Given the description of an element on the screen output the (x, y) to click on. 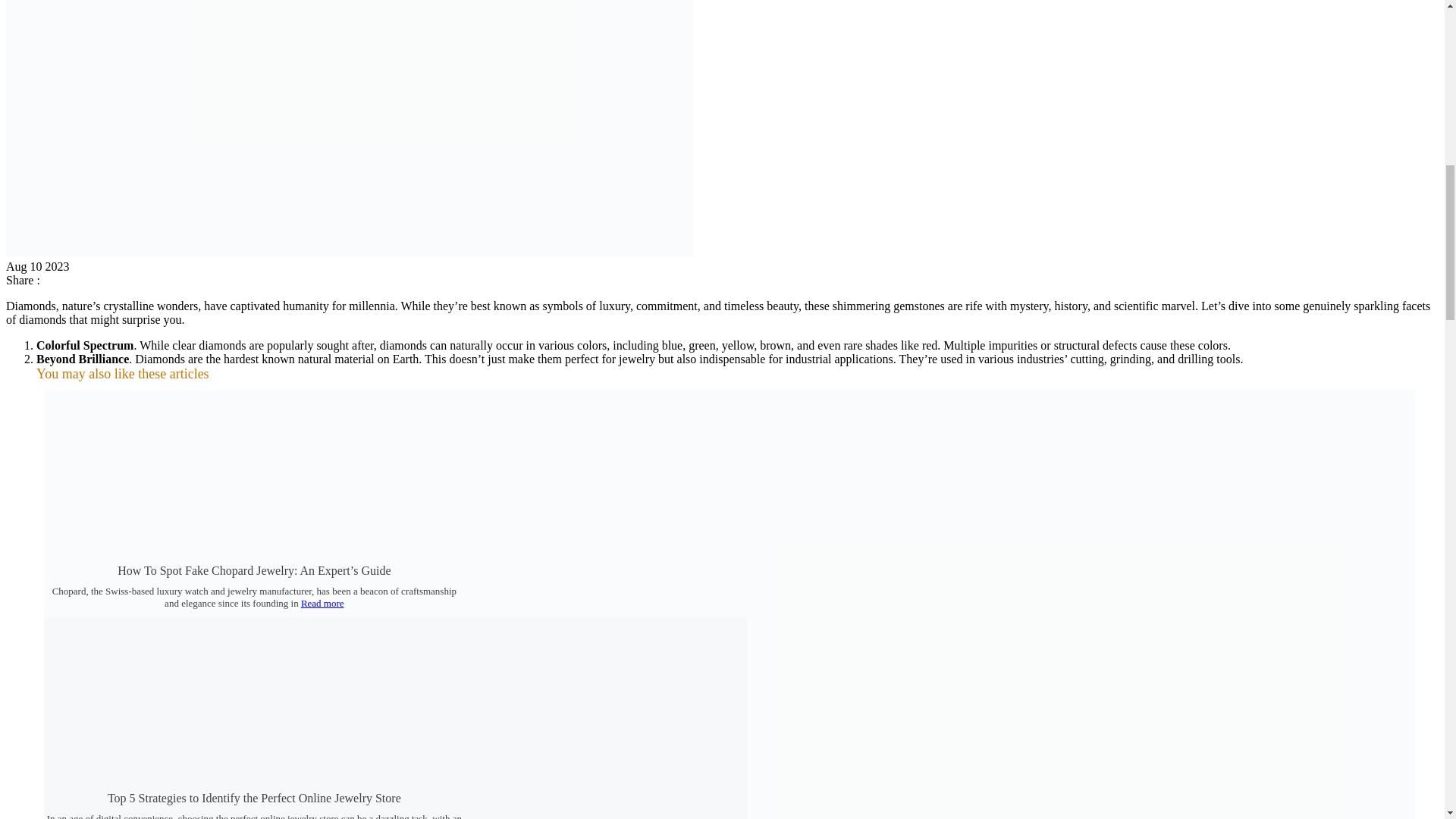
Read more (322, 603)
